Given the description of an element on the screen output the (x, y) to click on. 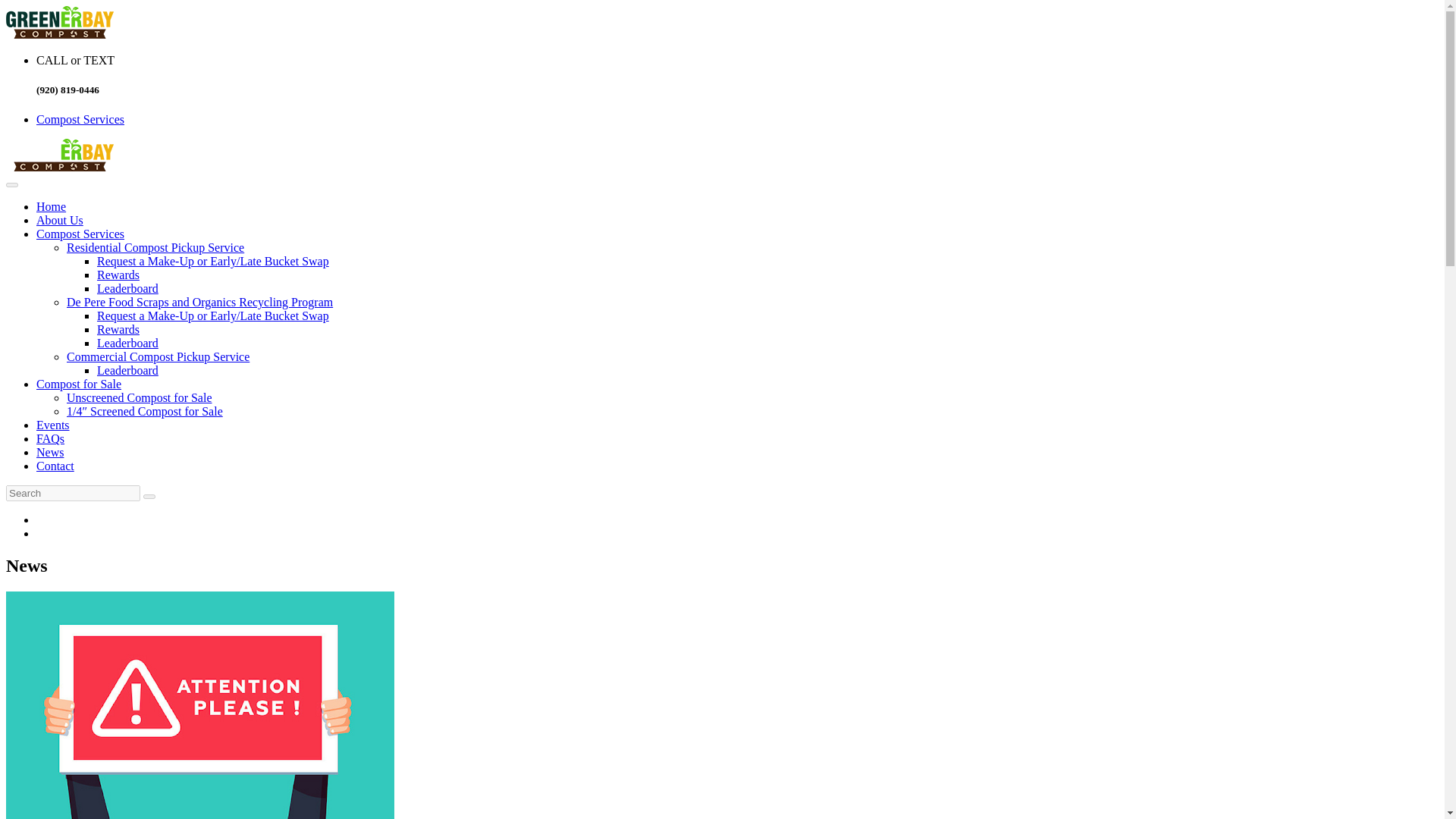
Residential Compost Pickup Service (155, 246)
About Us (59, 219)
FAQs (50, 438)
Contact (55, 465)
Commercial Compost Pickup Service (157, 356)
Rewards (118, 274)
De Pere Food Scraps and Organics Recycling Program (199, 301)
Compost Services (79, 119)
News (50, 451)
Home (50, 205)
